Given the description of an element on the screen output the (x, y) to click on. 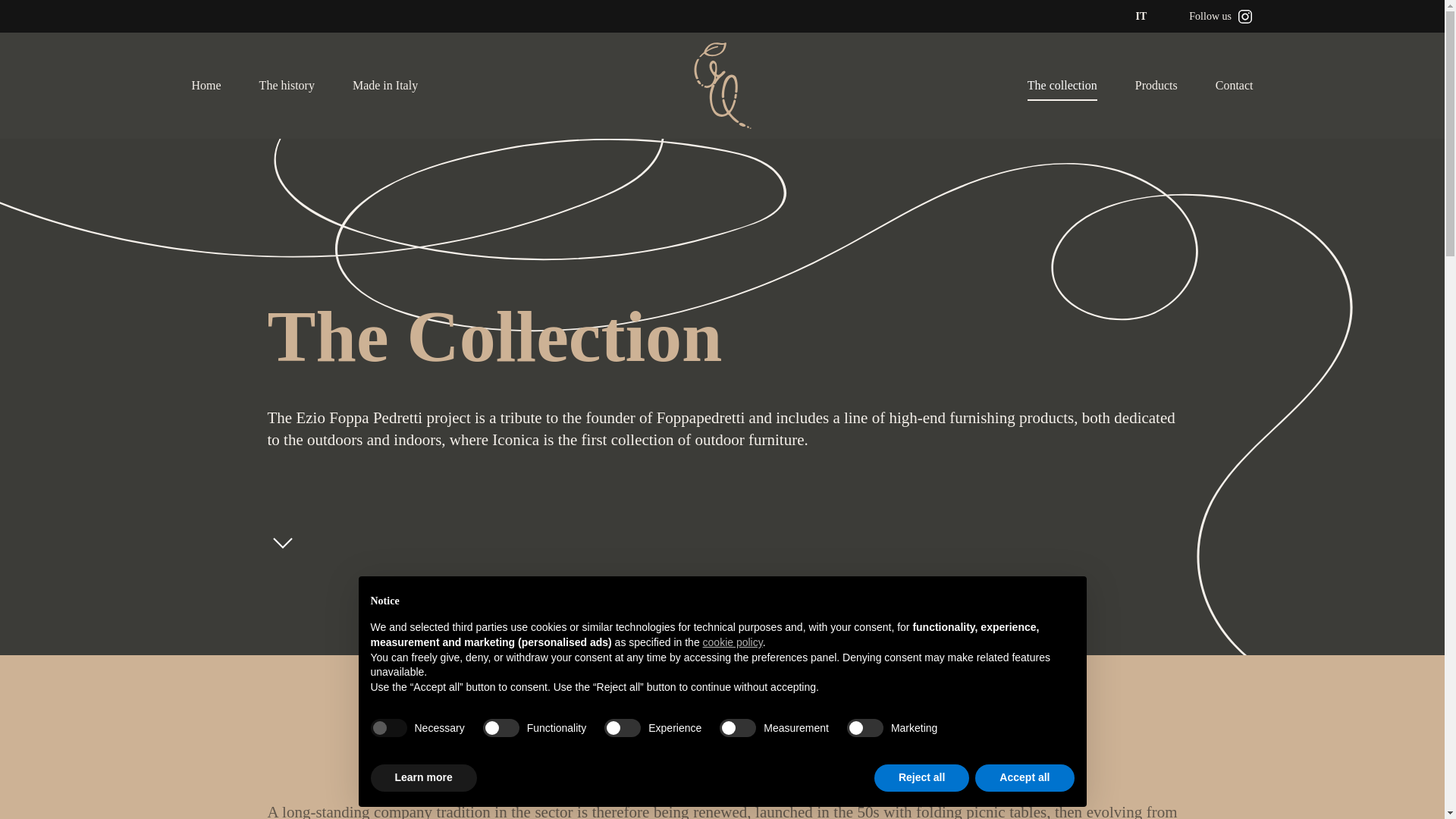
false (737, 728)
false (865, 728)
cookie policy (732, 642)
true (387, 728)
false (622, 728)
false (501, 728)
